Given the description of an element on the screen output the (x, y) to click on. 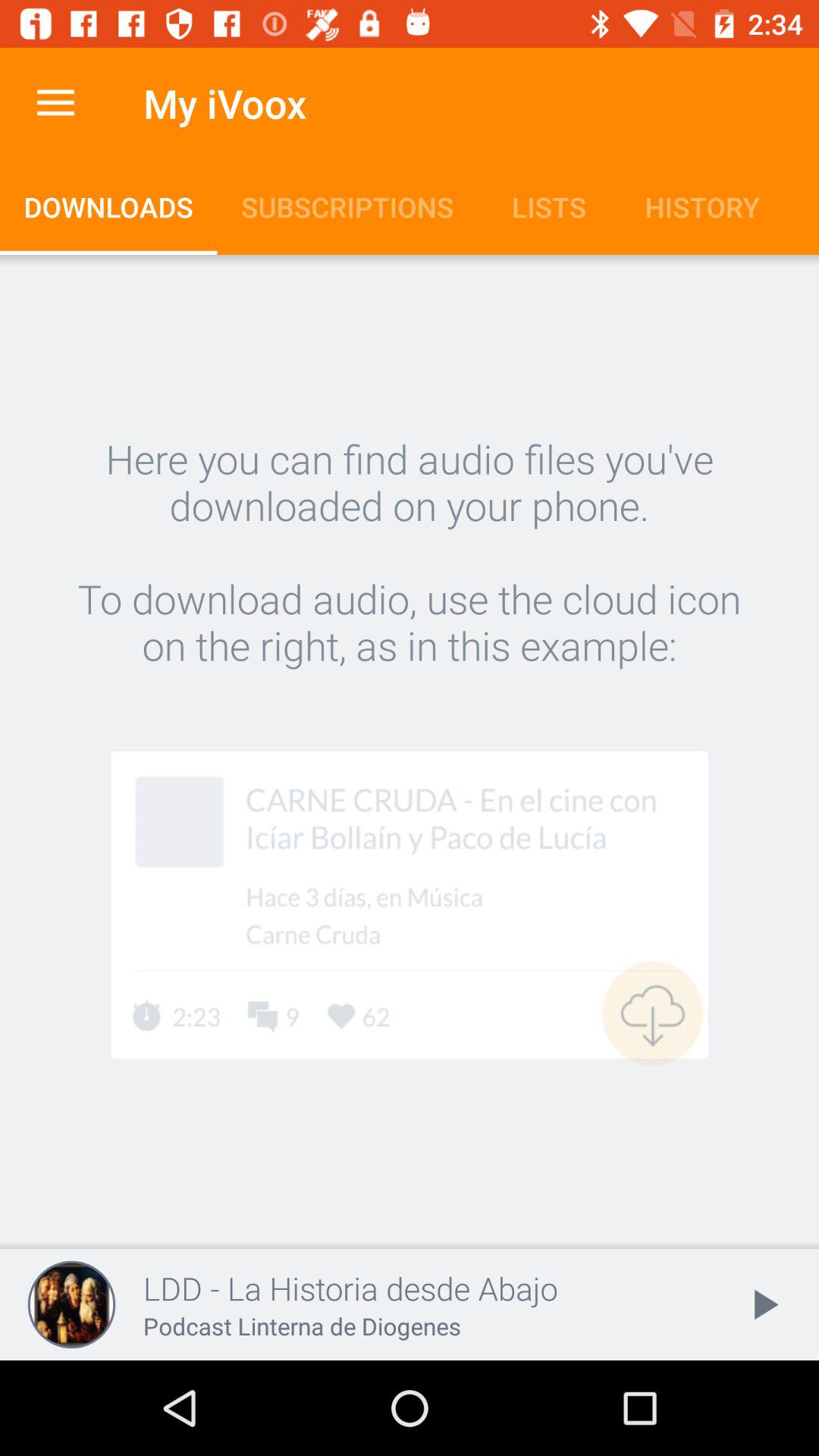
click the item above the downloads item (55, 103)
